Given the description of an element on the screen output the (x, y) to click on. 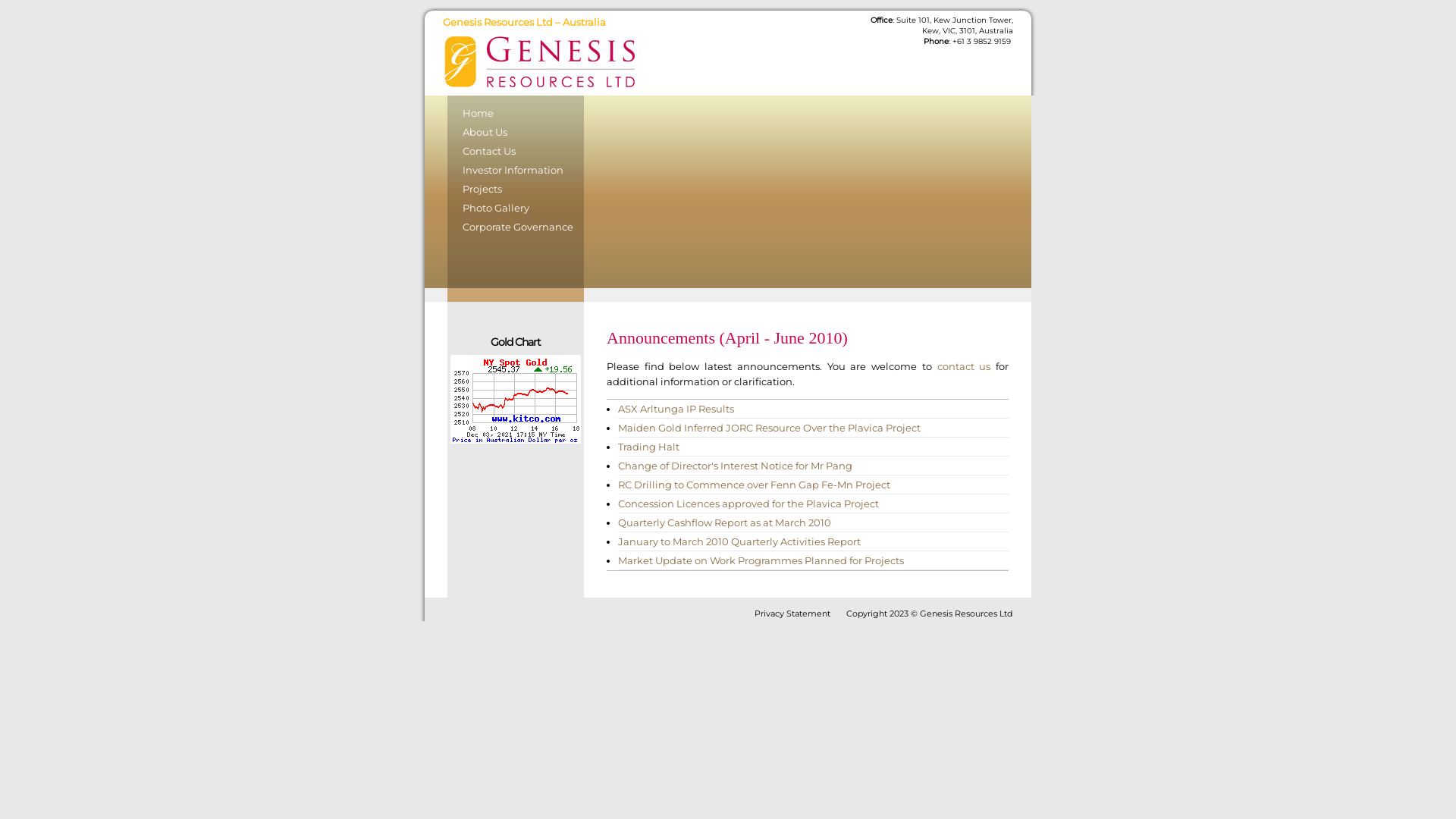
ASX Arltunga IP Results Element type: text (676, 408)
Contact Us Element type: text (515, 152)
January to March 2010 Quarterly Activities Report Element type: text (739, 541)
About Us Element type: text (515, 133)
Trading Halt Element type: text (648, 446)
contact us Element type: text (964, 366)
Home Element type: text (515, 114)
Projects Element type: text (515, 190)
Photo Gallery Element type: text (515, 209)
Maiden Gold Inferred JORC Resource Over the Plavica Project Element type: text (769, 427)
Investor Information Element type: text (515, 171)
Corporate Governance Element type: text (515, 228)
RC Drilling to Commence over Fenn Gap Fe-Mn Project Element type: text (754, 484)
Change of Director's Interest Notice for Mr Pang Element type: text (735, 465)
Concession Licences approved for the Plavica Project Element type: text (748, 503)
Market Update on Work Programmes Planned for Projects Element type: text (760, 560)
Quarterly Cashflow Report as at March 2010 Element type: text (724, 522)
Privacy Statement Element type: text (792, 613)
